Given the description of an element on the screen output the (x, y) to click on. 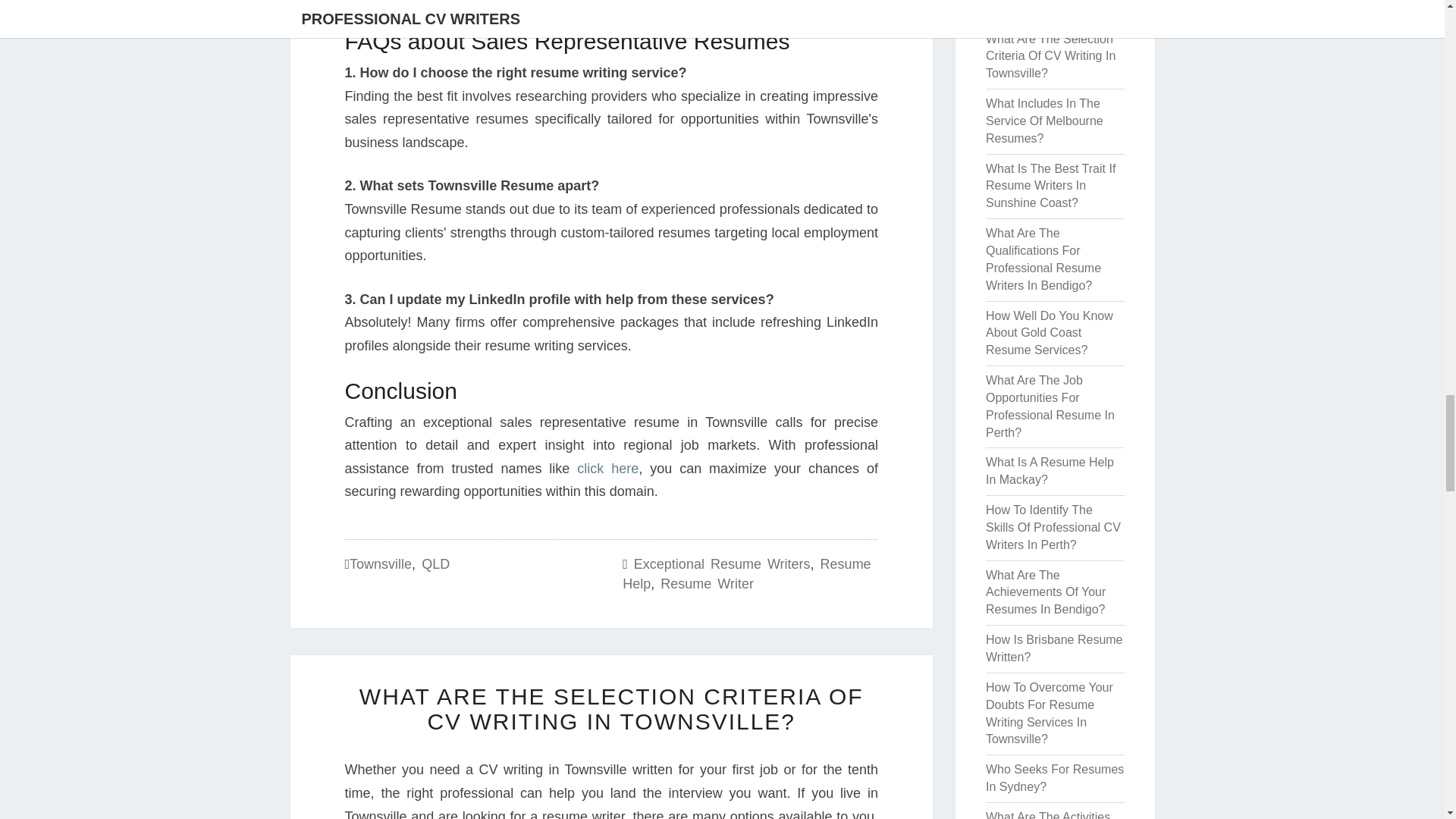
Townsville (380, 563)
QLD (435, 563)
Resume Help (746, 573)
Exceptional Resume Writers (721, 563)
click here (607, 468)
Resume Writer (707, 583)
WHAT ARE THE SELECTION CRITERIA OF CV WRITING IN TOWNSVILLE? (611, 708)
